Given the description of an element on the screen output the (x, y) to click on. 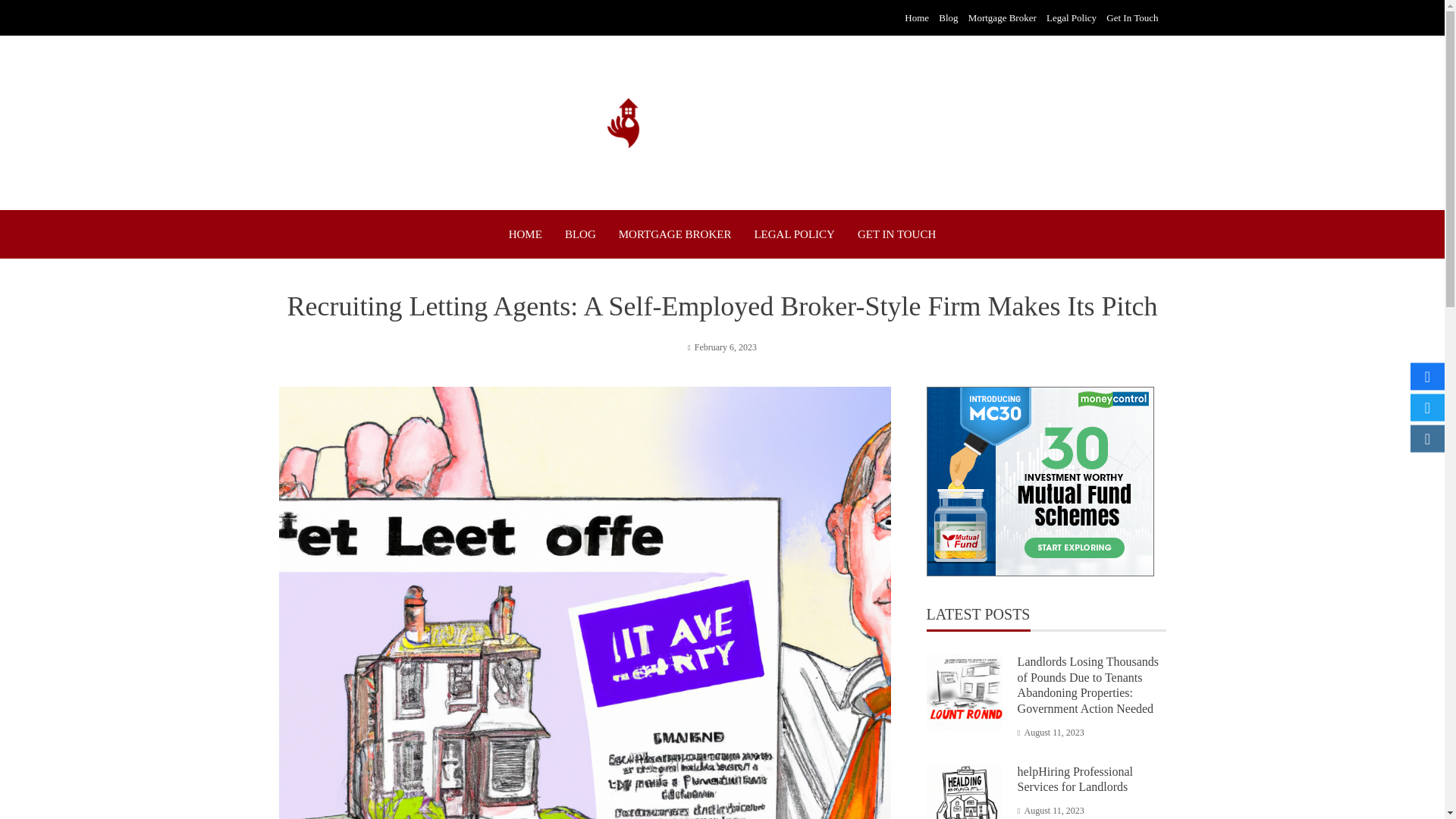
MORTGAGE BROKER (675, 233)
Mortgage Broker (1002, 17)
HOME (524, 233)
Home (916, 17)
LEGAL POLICY (794, 233)
GET IN TOUCH (896, 233)
Get In Touch (1131, 17)
BLOG (579, 233)
Legal Policy (1071, 17)
Blog (948, 17)
helpHiring Professional Services for Landlords (1074, 778)
